Given the description of an element on the screen output the (x, y) to click on. 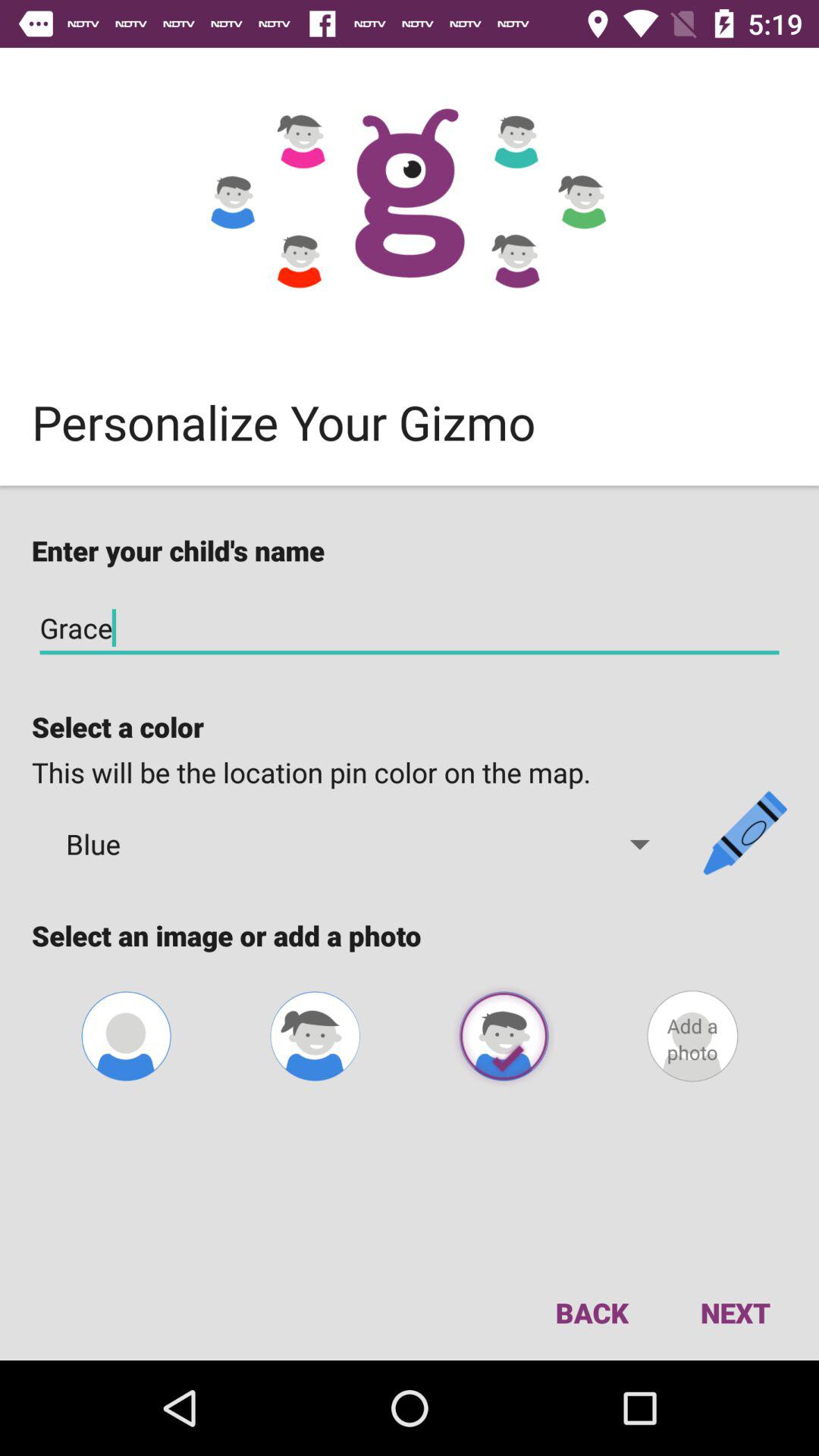
select image (314, 1036)
